Given the description of an element on the screen output the (x, y) to click on. 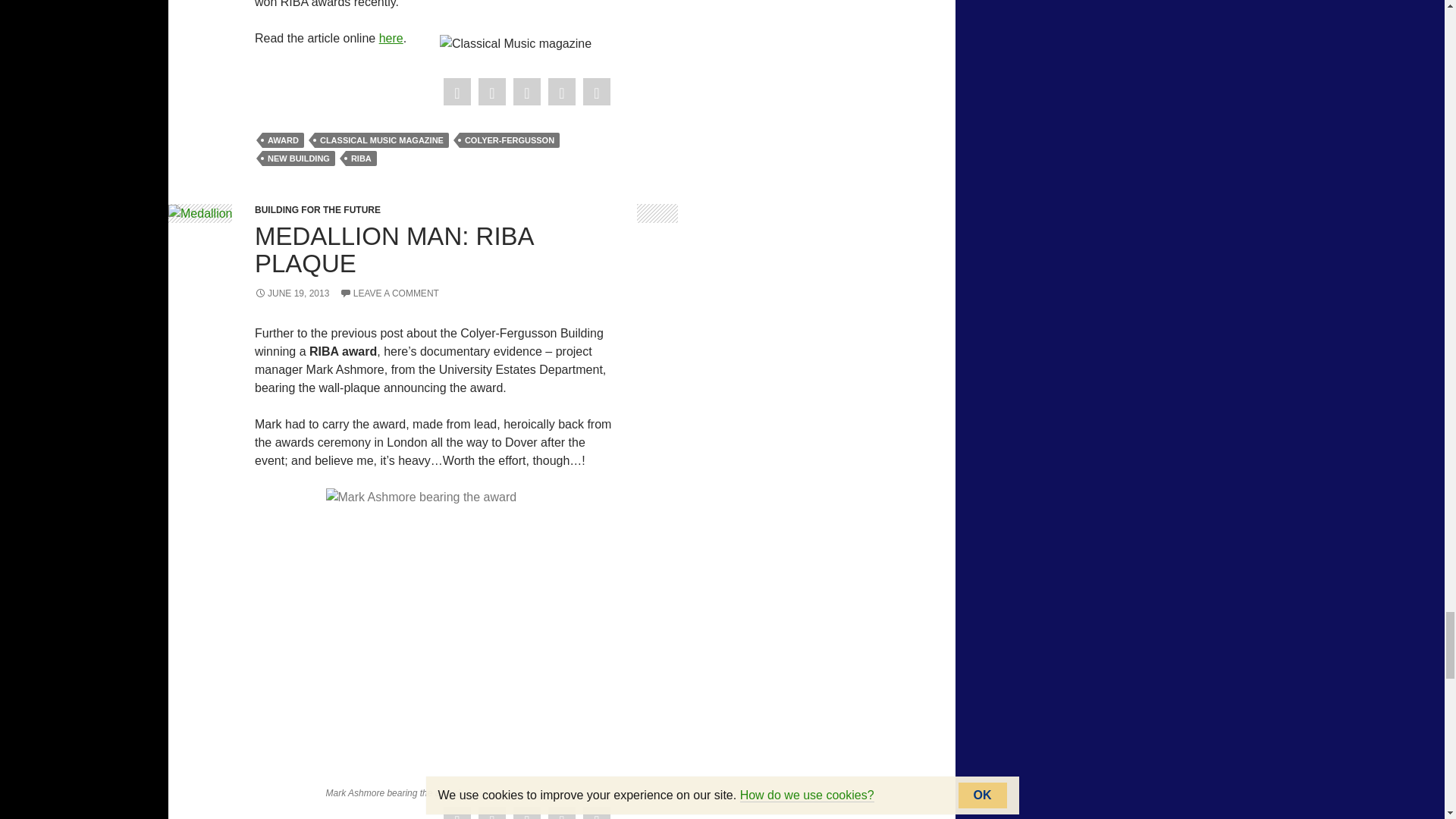
Share via Google Plus (526, 92)
Read article (390, 38)
Share via Twitter (491, 92)
Share via Facebook (456, 92)
